Given the description of an element on the screen output the (x, y) to click on. 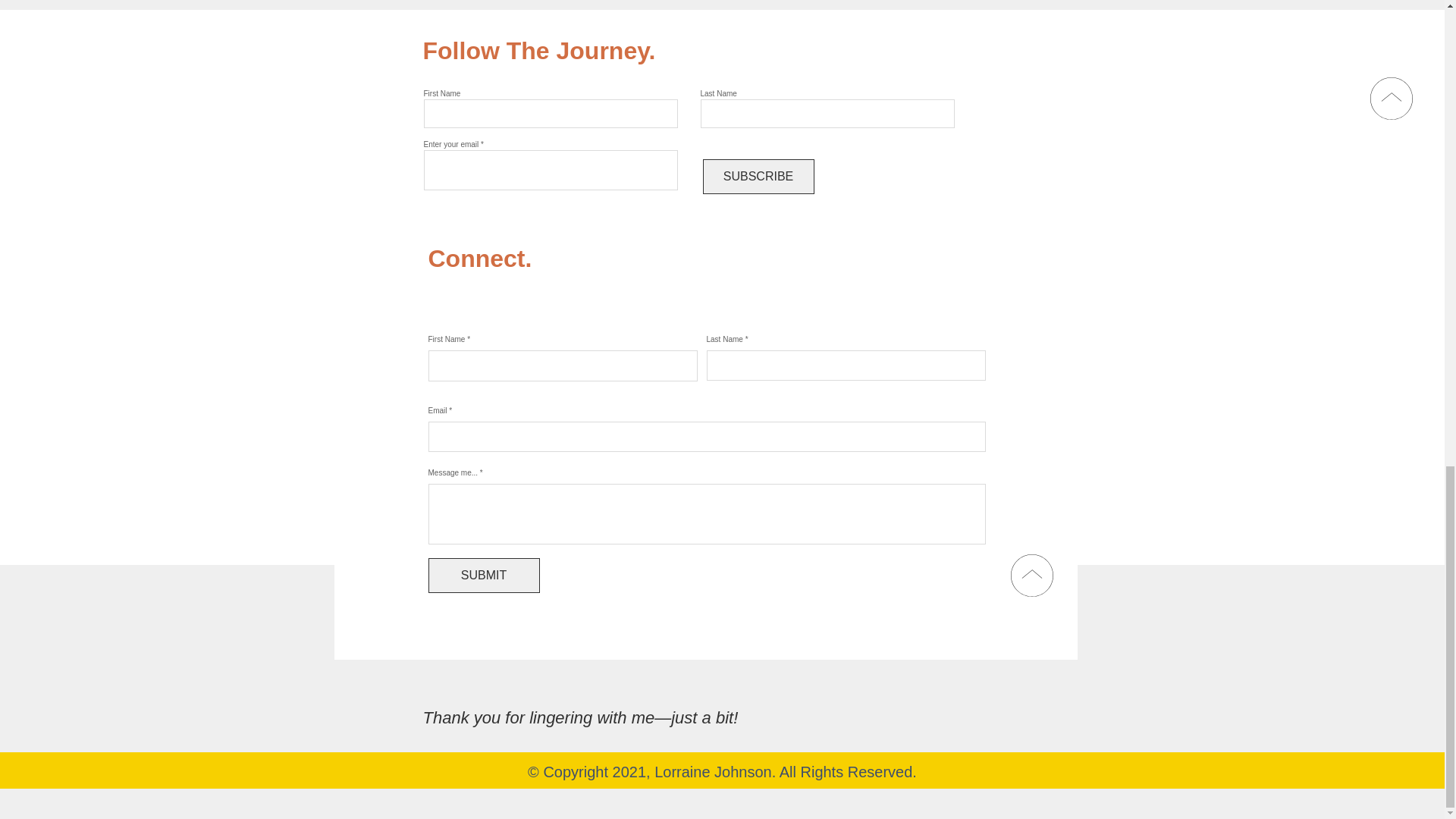
SUBMIT (483, 574)
SUBSCRIBE (757, 176)
